Given the description of an element on the screen output the (x, y) to click on. 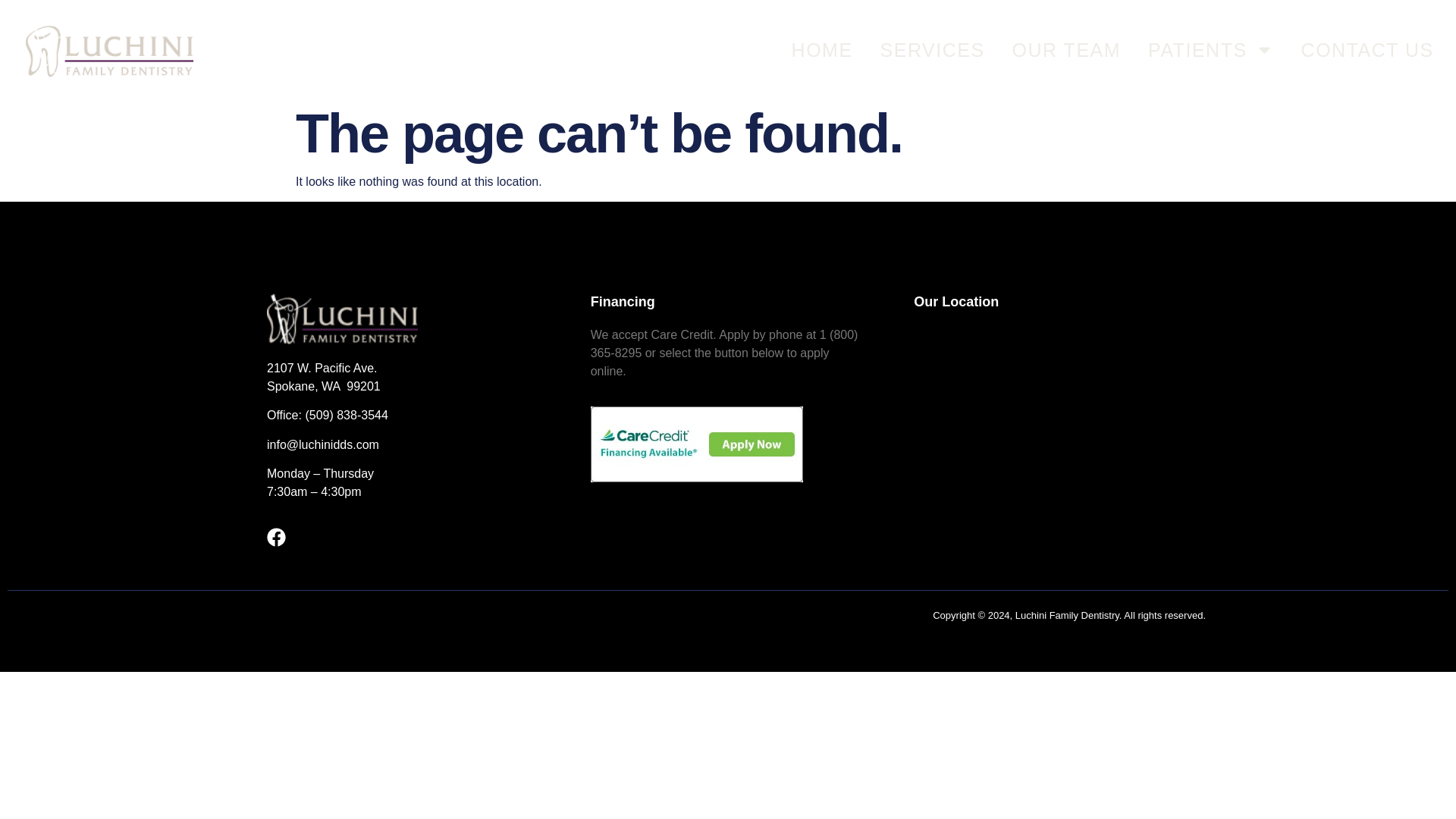
OUR TEAM (1066, 49)
PATIENTS (1211, 49)
CONTACT US (1367, 49)
HOME (822, 49)
SERVICES (932, 49)
2107 W. Pacific Ave. Spokane, WA  99201 (1051, 439)
Luchini-Family-Dentistry (341, 318)
